Given the description of an element on the screen output the (x, y) to click on. 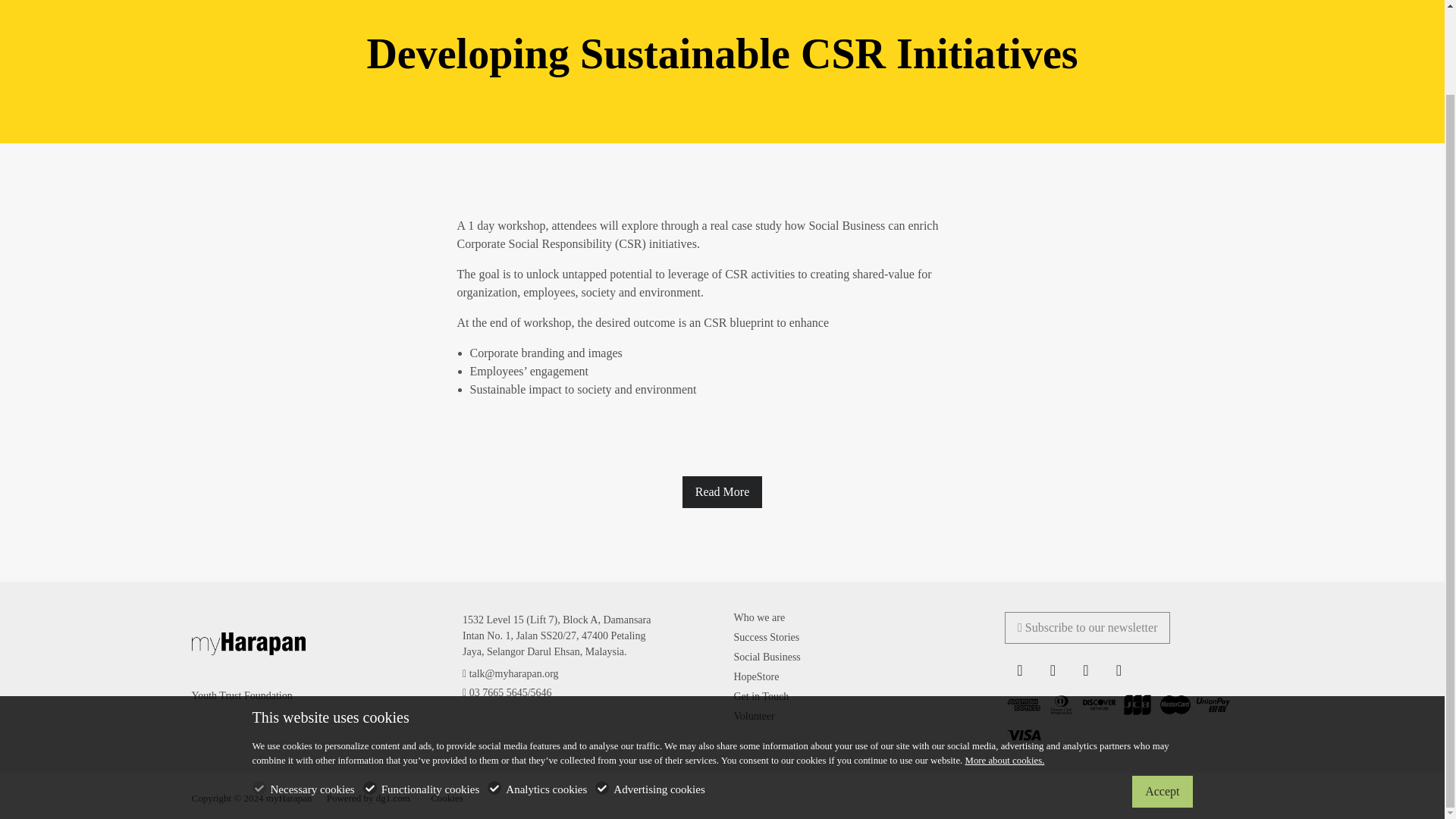
Get in Touch (761, 696)
Volunteer (753, 715)
myHarapan (247, 643)
Success Stories (766, 636)
Who we are (759, 617)
Social Business (766, 656)
Read More (722, 491)
HopeStore (755, 676)
